Given the description of an element on the screen output the (x, y) to click on. 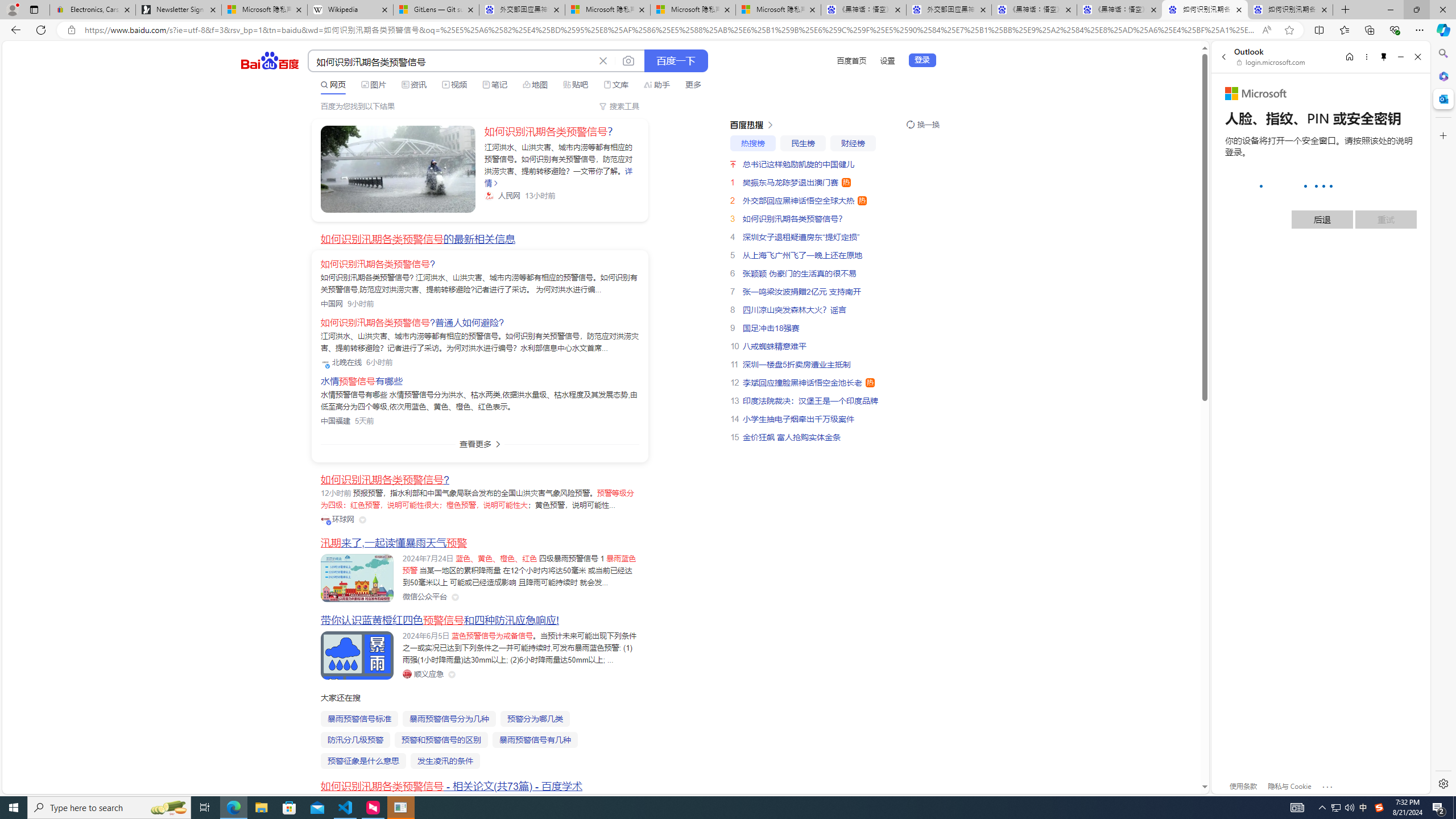
Wikipedia (349, 9)
Class: sc-link _link_kwqvb_2 -v-color-primary block (398, 168)
